Given the description of an element on the screen output the (x, y) to click on. 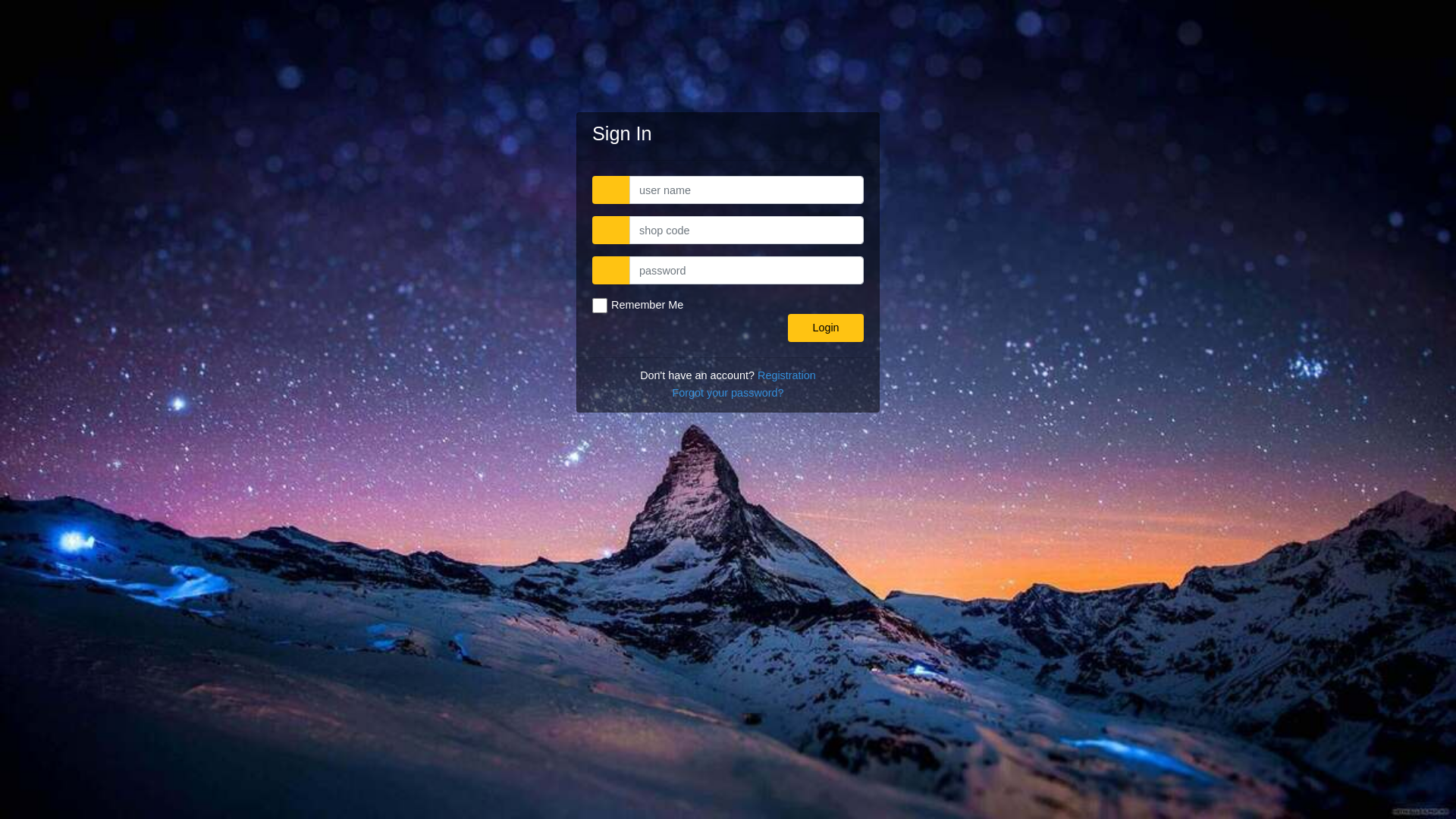
Registration Element type: text (786, 375)
Forgot your password? Element type: text (727, 392)
Login Element type: text (825, 327)
